Given the description of an element on the screen output the (x, y) to click on. 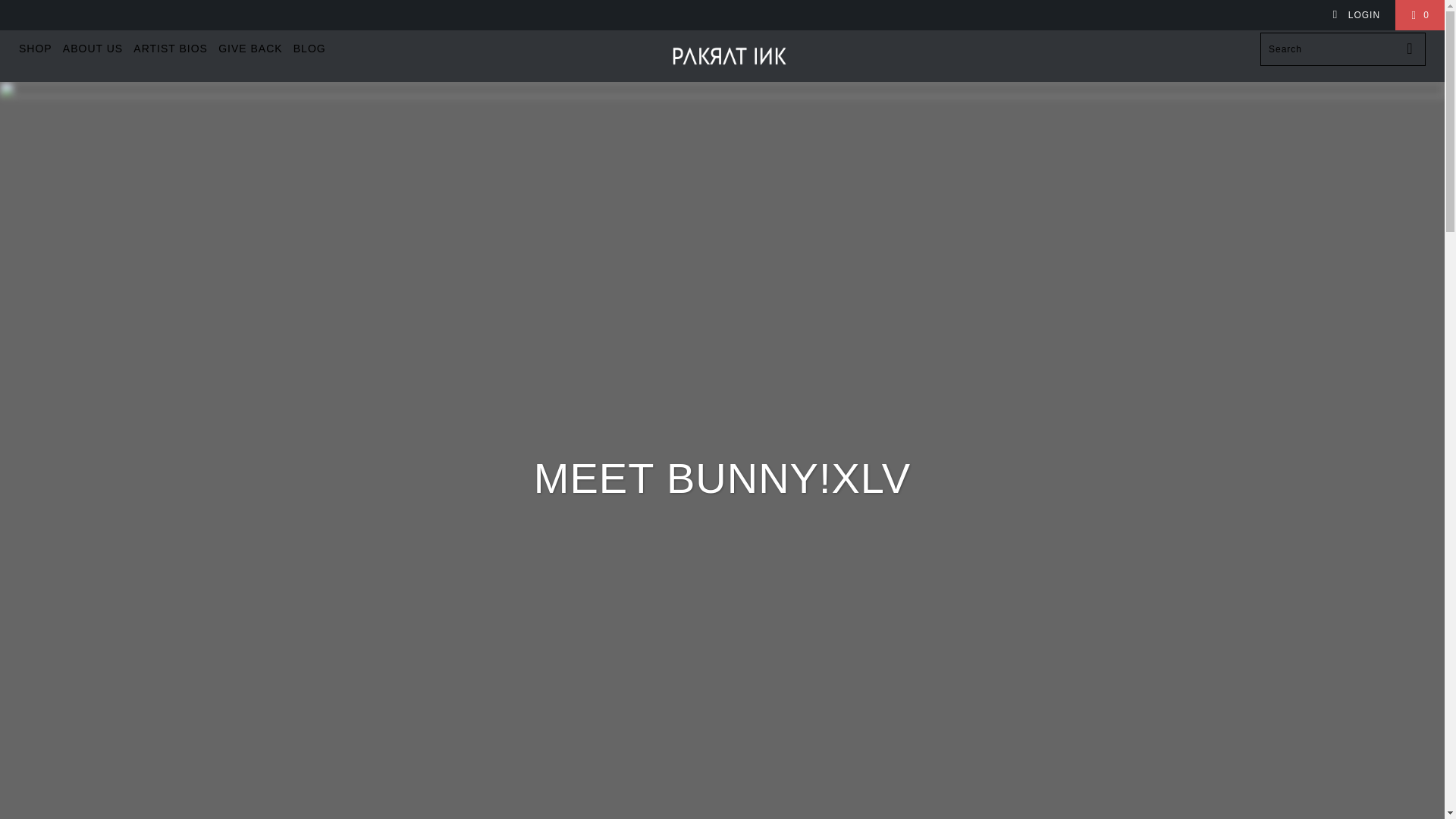
GIVE BACK (250, 48)
SHOP (35, 48)
ABOUT US (92, 48)
LOGIN (1355, 15)
PakRat Ink (729, 55)
ARTIST BIOS (170, 48)
My Account  (1355, 15)
